Given the description of an element on the screen output the (x, y) to click on. 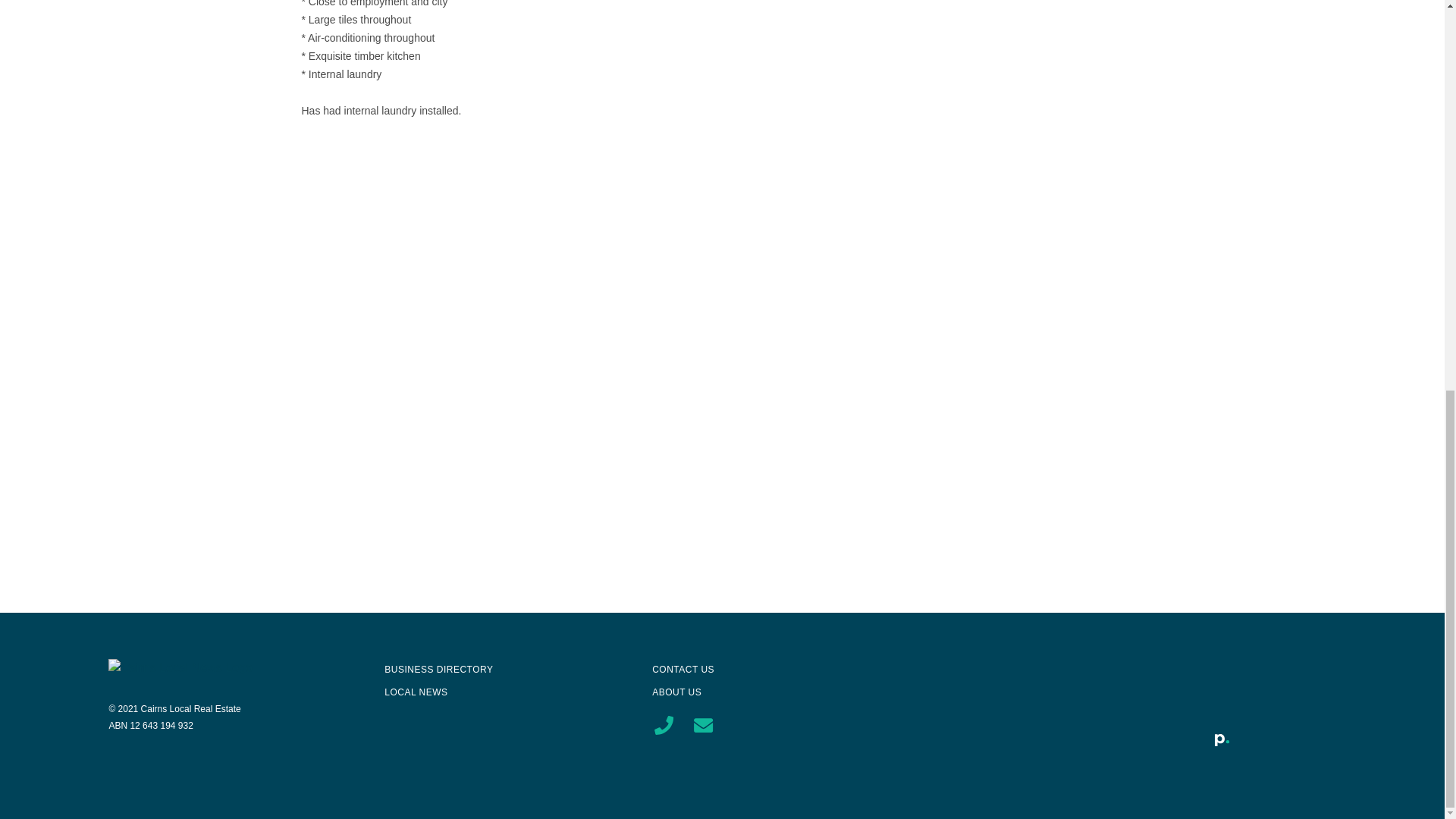
LOCAL NEWS (415, 692)
ABOUT US (676, 692)
BUSINESS DIRECTORY (438, 669)
CONTACT US (683, 669)
